Given the description of an element on the screen output the (x, y) to click on. 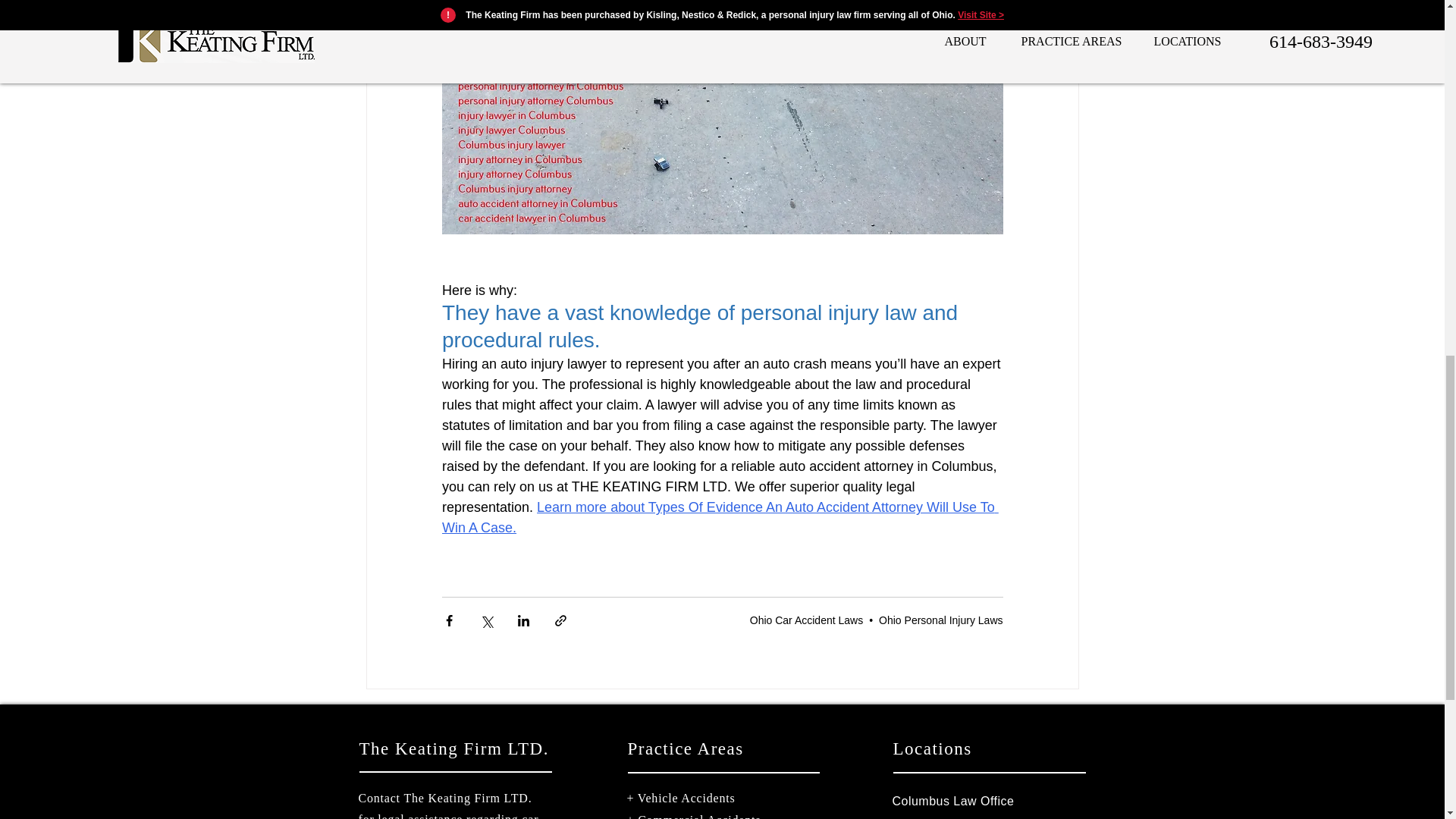
Commercial Accidents (698, 816)
Ohio Car Accident Laws (806, 620)
Ohio Personal Injury Laws (941, 620)
Vehicle Accidents (686, 797)
